Given the description of an element on the screen output the (x, y) to click on. 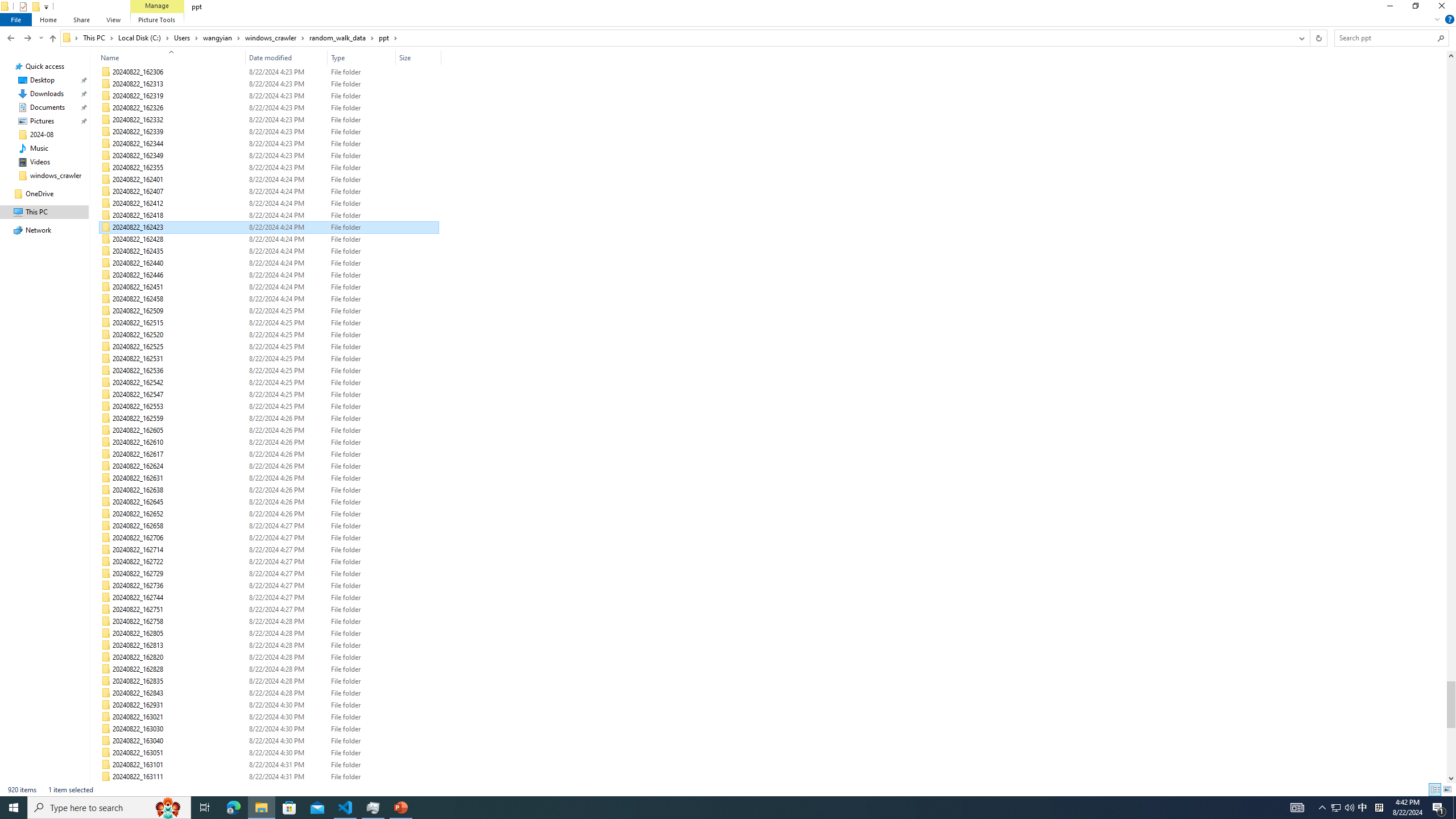
20240822_163536 (269, 788)
Large Icons (1447, 789)
20240822_162326 (269, 107)
20240822_163051 (269, 752)
20240822_162542 (269, 382)
Picture Tools (156, 19)
Type (361, 788)
Forward to 20240822_162423 (Alt + Right Arrow) (27, 37)
Vertical Scroll Bar (1450, 416)
20240822_163040 (269, 740)
All locations (70, 37)
20240822_163111 (269, 776)
This PC (98, 37)
